Given the description of an element on the screen output the (x, y) to click on. 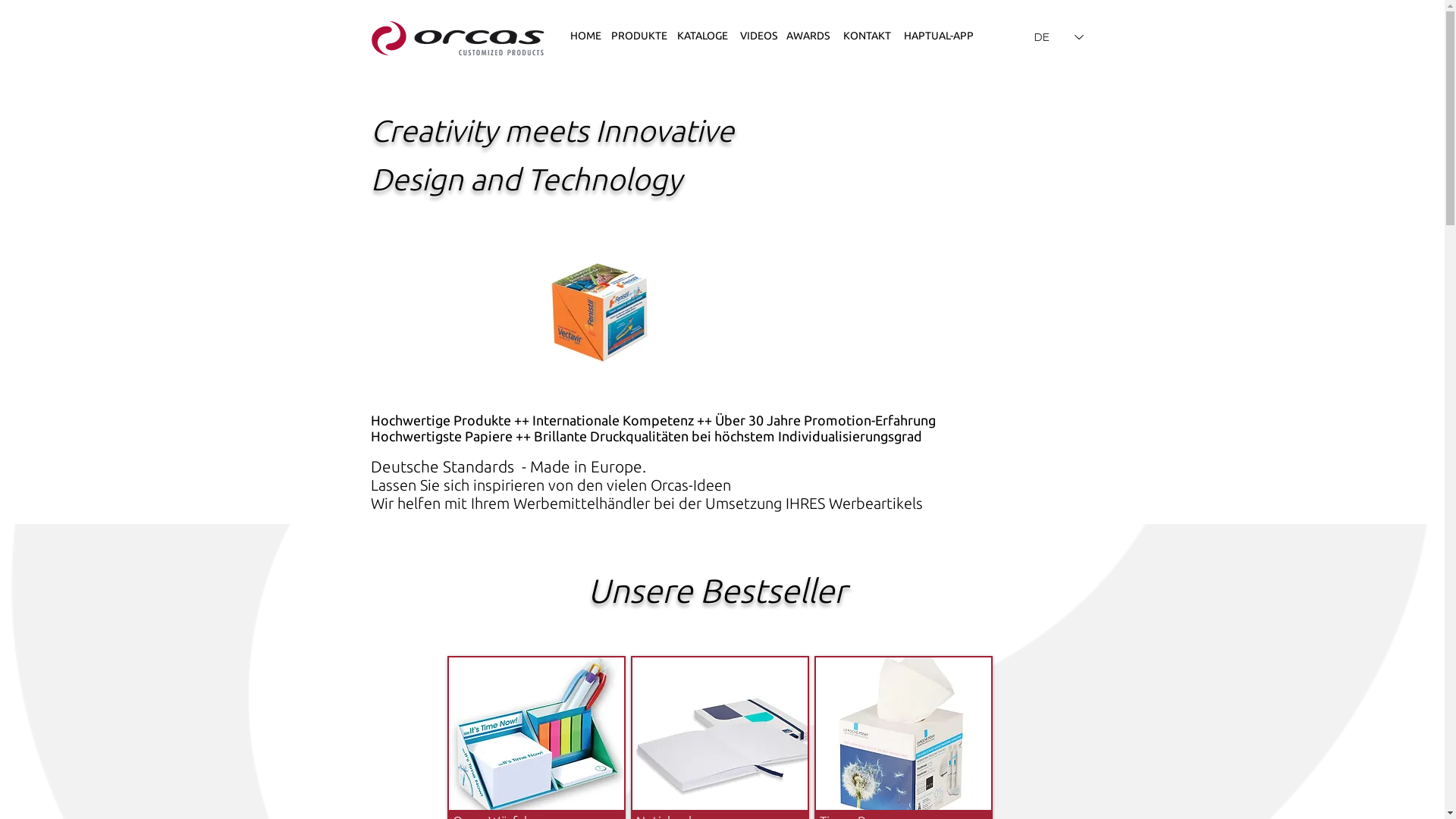
PRODUKTE Element type: text (638, 36)
VIDEOS Element type: text (758, 36)
KATALOGE Element type: text (702, 36)
AWARDS Element type: text (807, 36)
KONTAKT Element type: text (867, 36)
HAPTUAL-APP Element type: text (938, 36)
HOME Element type: text (585, 36)
